Given the description of an element on the screen output the (x, y) to click on. 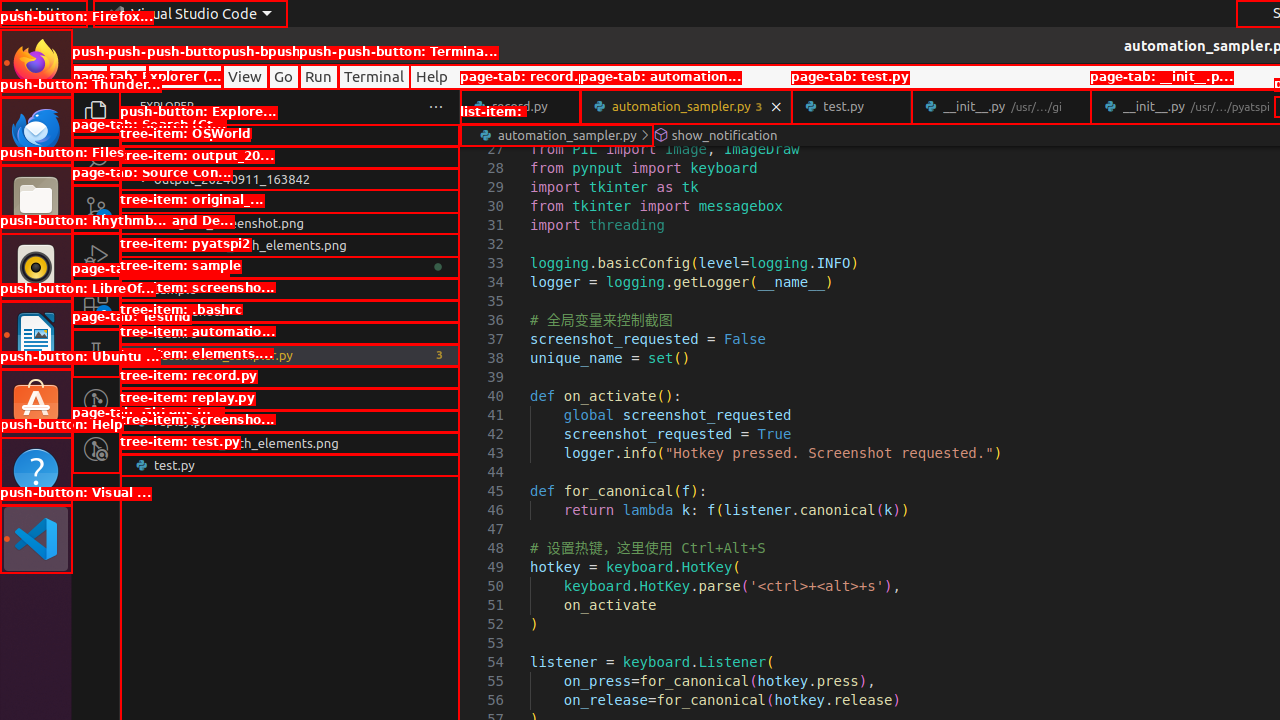
Explorer Section: osworld Element type: push-button (289, 135)
Explorer (Ctrl+Shift+E) Element type: page-tab (96, 113)
Search (Ctrl+Shift+F) Element type: page-tab (96, 160)
View Element type: push-button (245, 76)
